Given the description of an element on the screen output the (x, y) to click on. 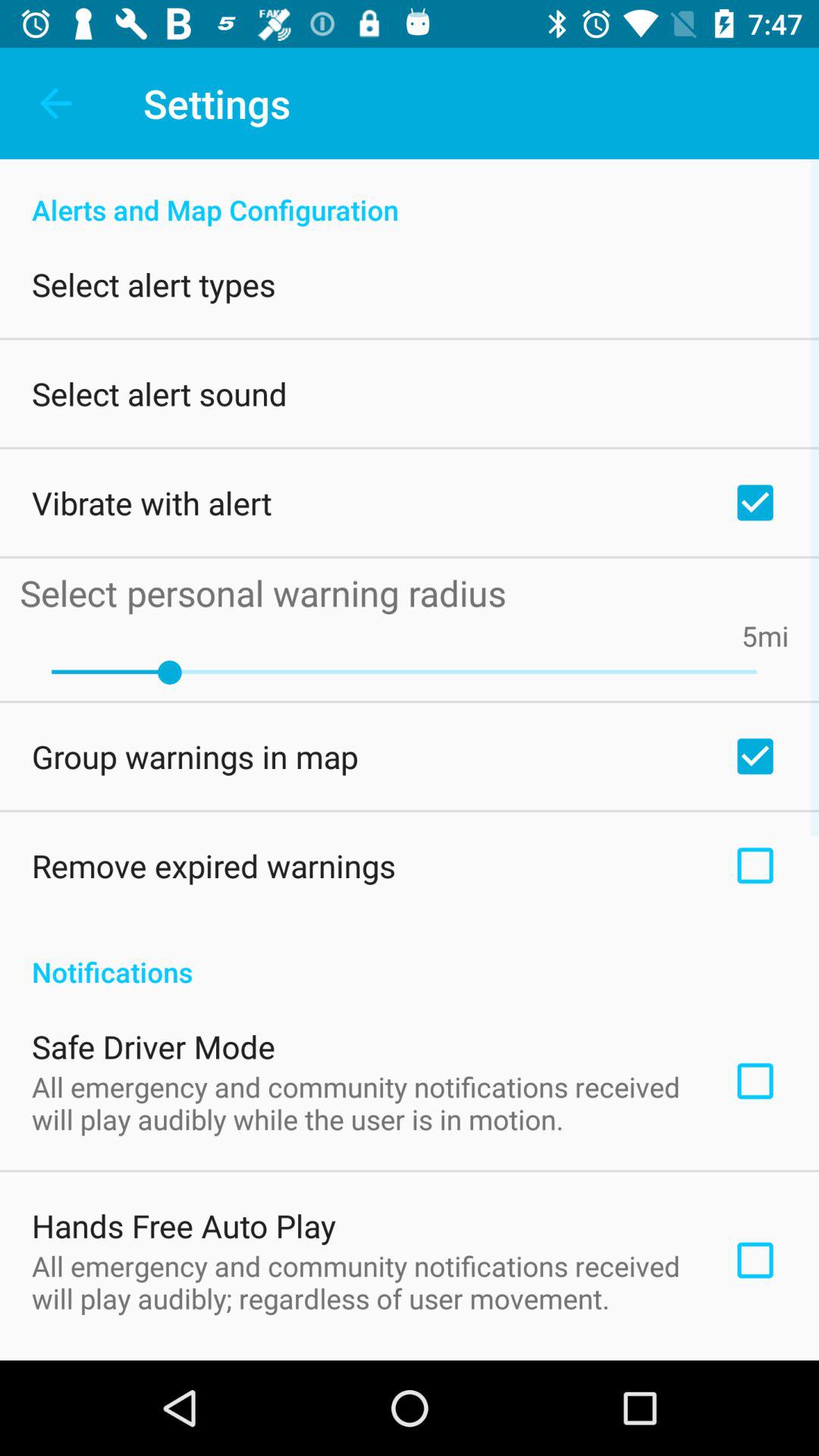
tap the app next to the settings item (55, 103)
